Given the description of an element on the screen output the (x, y) to click on. 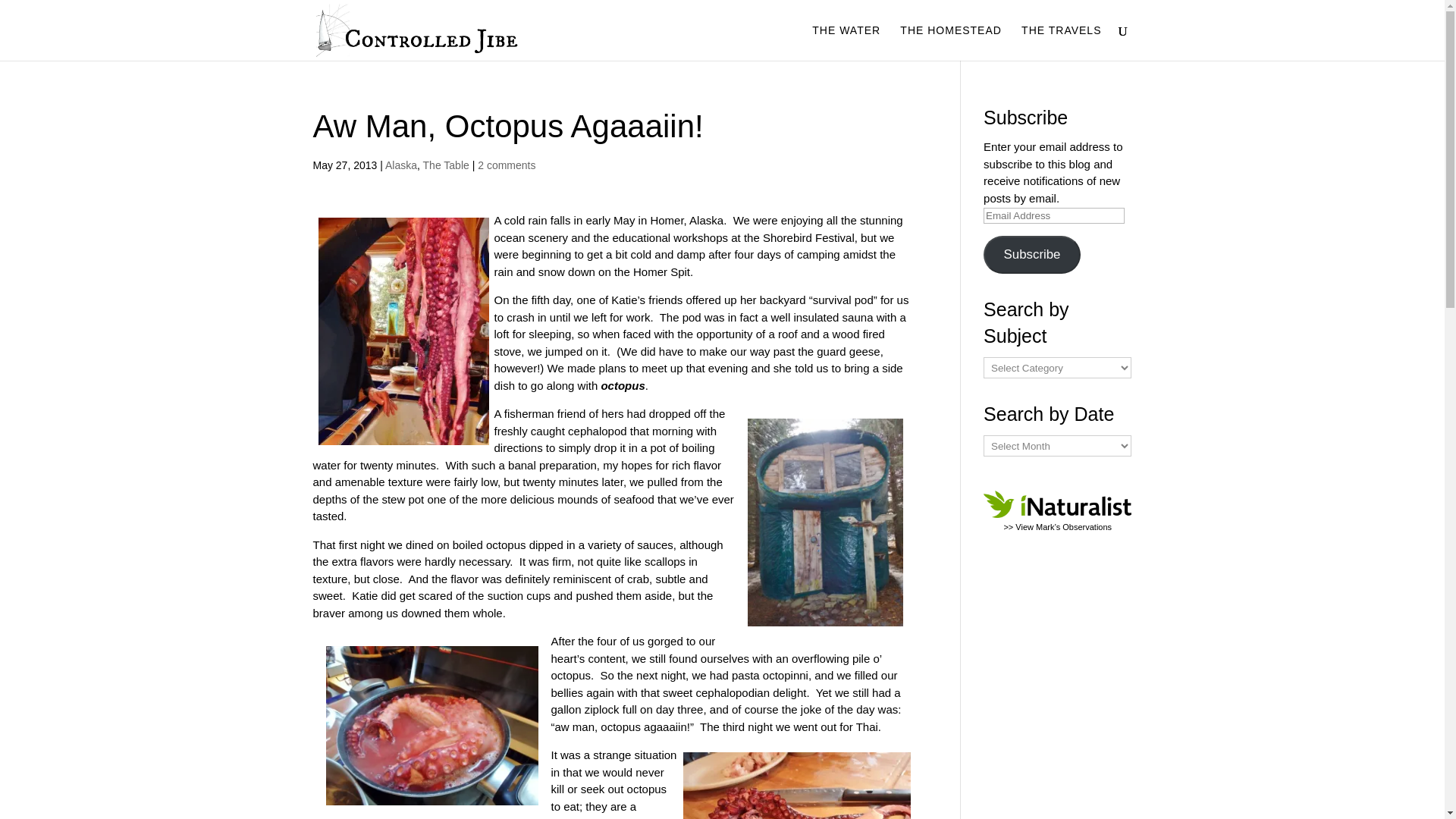
OLYMPUS DIGITAL CAMERA (796, 785)
The Table (445, 164)
Alaska (400, 164)
2 comments (506, 164)
OLYMPUS DIGITAL CAMERA (432, 725)
THE WATER (846, 42)
Subscribe (1032, 254)
THE TRAVELS (1061, 42)
THE HOMESTEAD (950, 42)
